Given the description of an element on the screen output the (x, y) to click on. 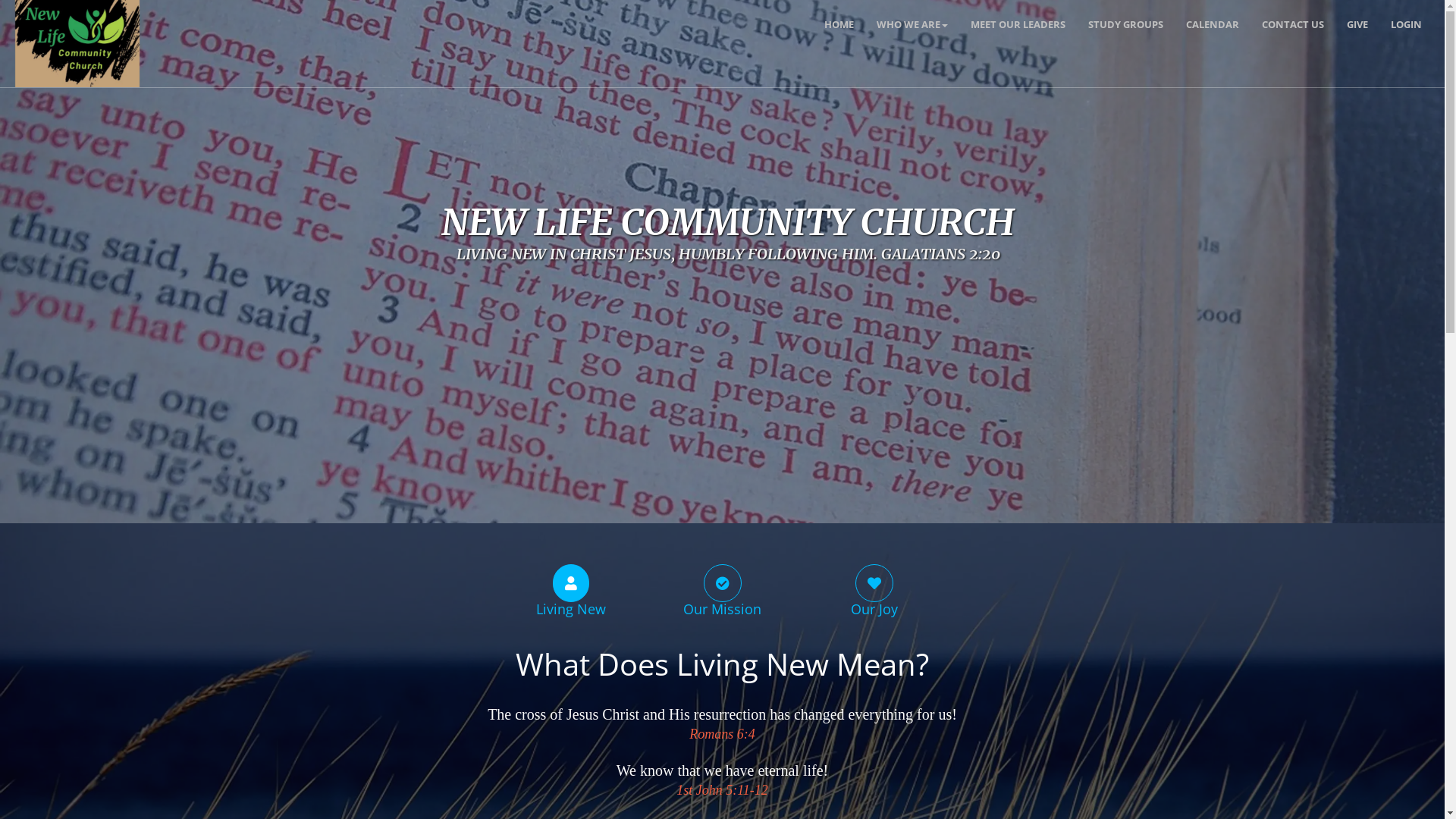
1st John 5:11-12 Element type: text (722, 790)
WHO WE ARE Element type: text (912, 24)
LOGIN Element type: text (1406, 24)
HOME Element type: text (838, 24)
Romans 6:4 Element type: text (722, 734)
CONTACT US Element type: text (1292, 24)
STUDY GROUPS Element type: text (1125, 24)
MEET OUR LEADERS Element type: text (1017, 24)
CALENDAR Element type: text (1212, 24)
GIVE Element type: text (1357, 24)
